Given the description of an element on the screen output the (x, y) to click on. 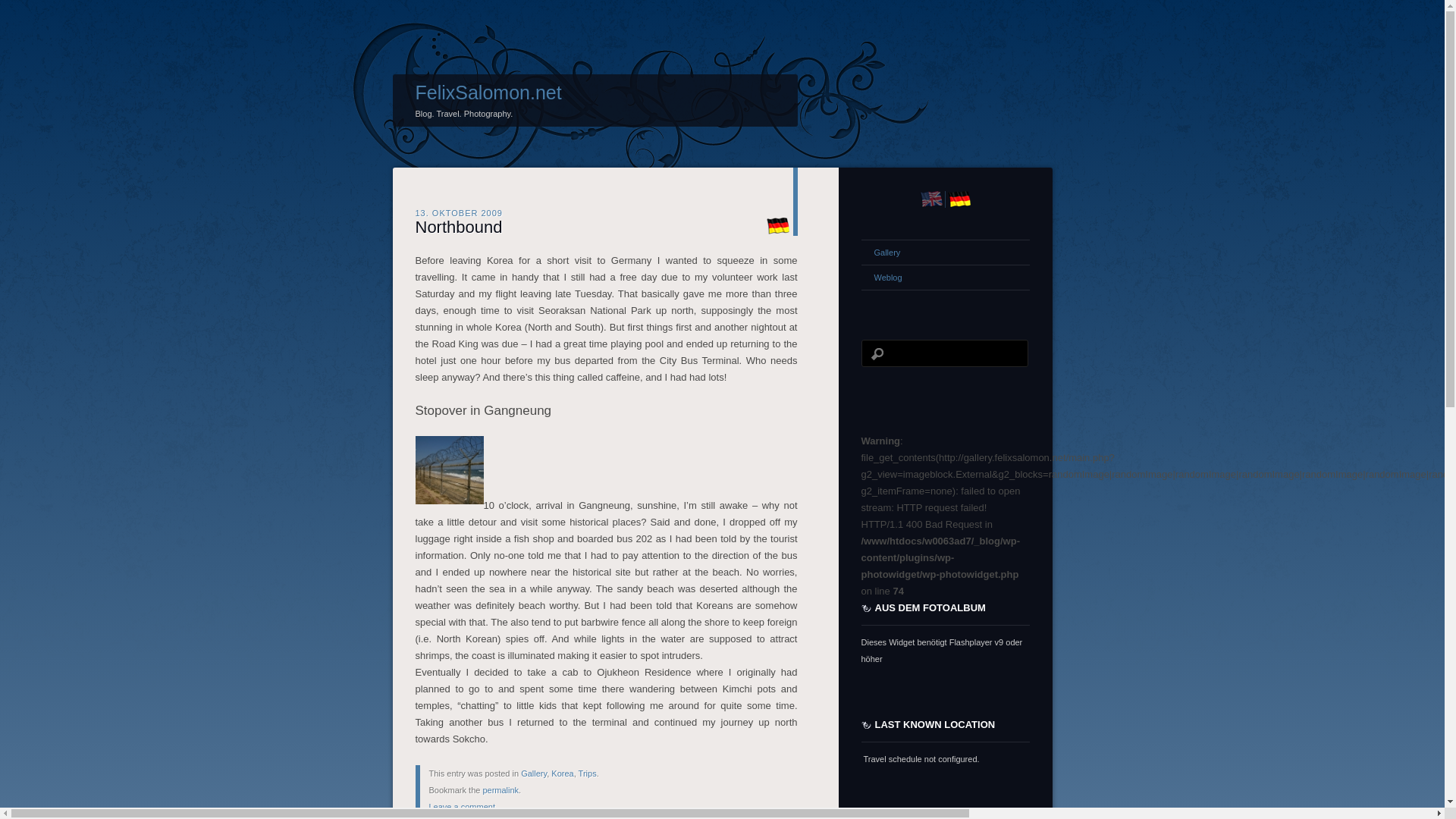
Northbound (458, 226)
Permalink to Northbound (499, 789)
Weblog (945, 277)
19:28 (458, 212)
permalink (499, 789)
FelixSalomon.net (488, 92)
Gallery (534, 773)
Kommentiere Northbound (462, 806)
english (930, 199)
Permalink to Northbound (458, 226)
